Given the description of an element on the screen output the (x, y) to click on. 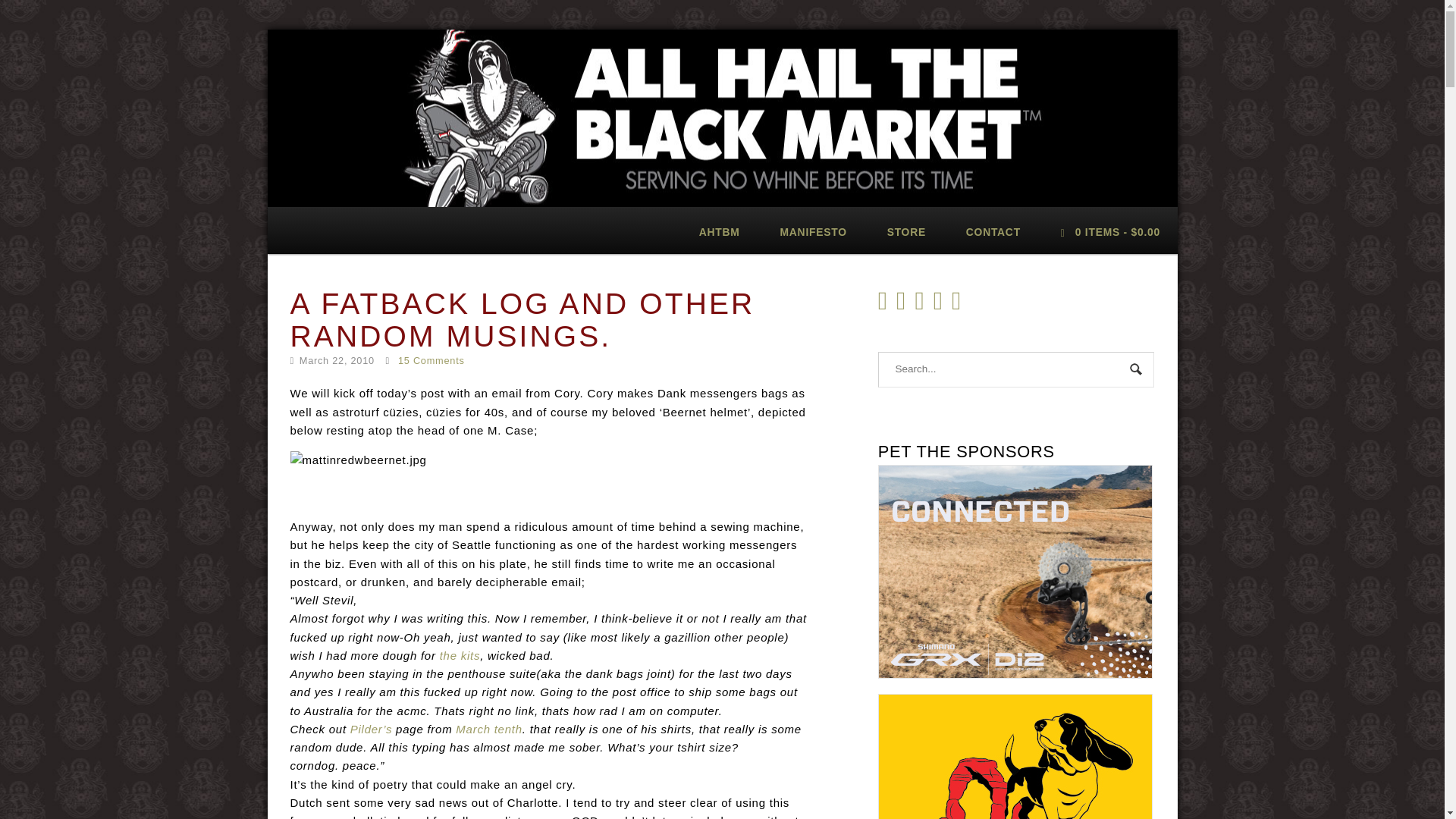
the kits (459, 655)
CONTACT (992, 230)
MANIFESTO (812, 230)
Search (1136, 370)
Search (1136, 370)
March tenth (488, 728)
STORE (905, 230)
15 Comments (430, 360)
View your shopping cart (1109, 230)
AHTBM (719, 230)
